Given the description of an element on the screen output the (x, y) to click on. 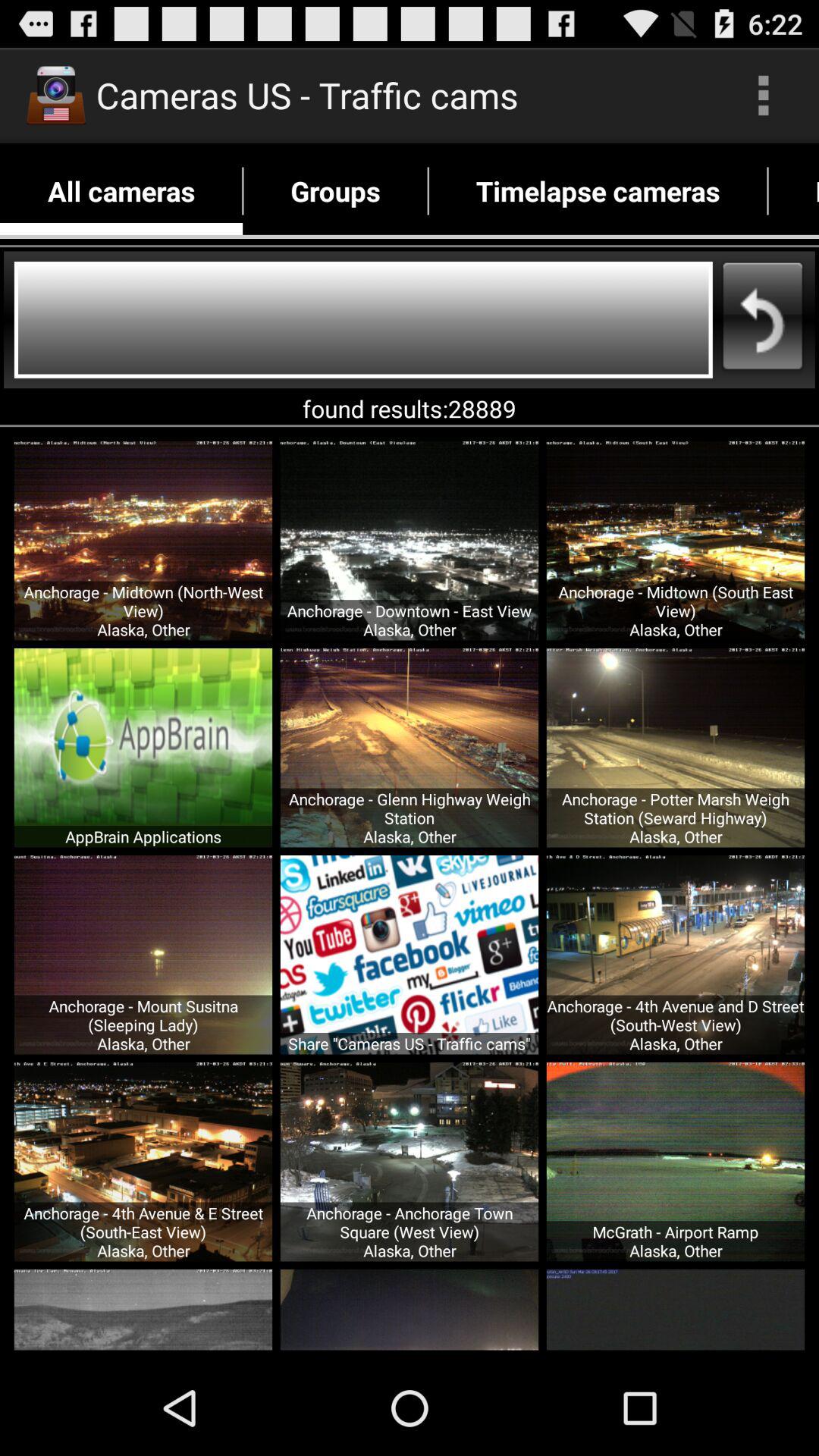
turn off the icon to the left of the groups item (121, 190)
